Given the description of an element on the screen output the (x, y) to click on. 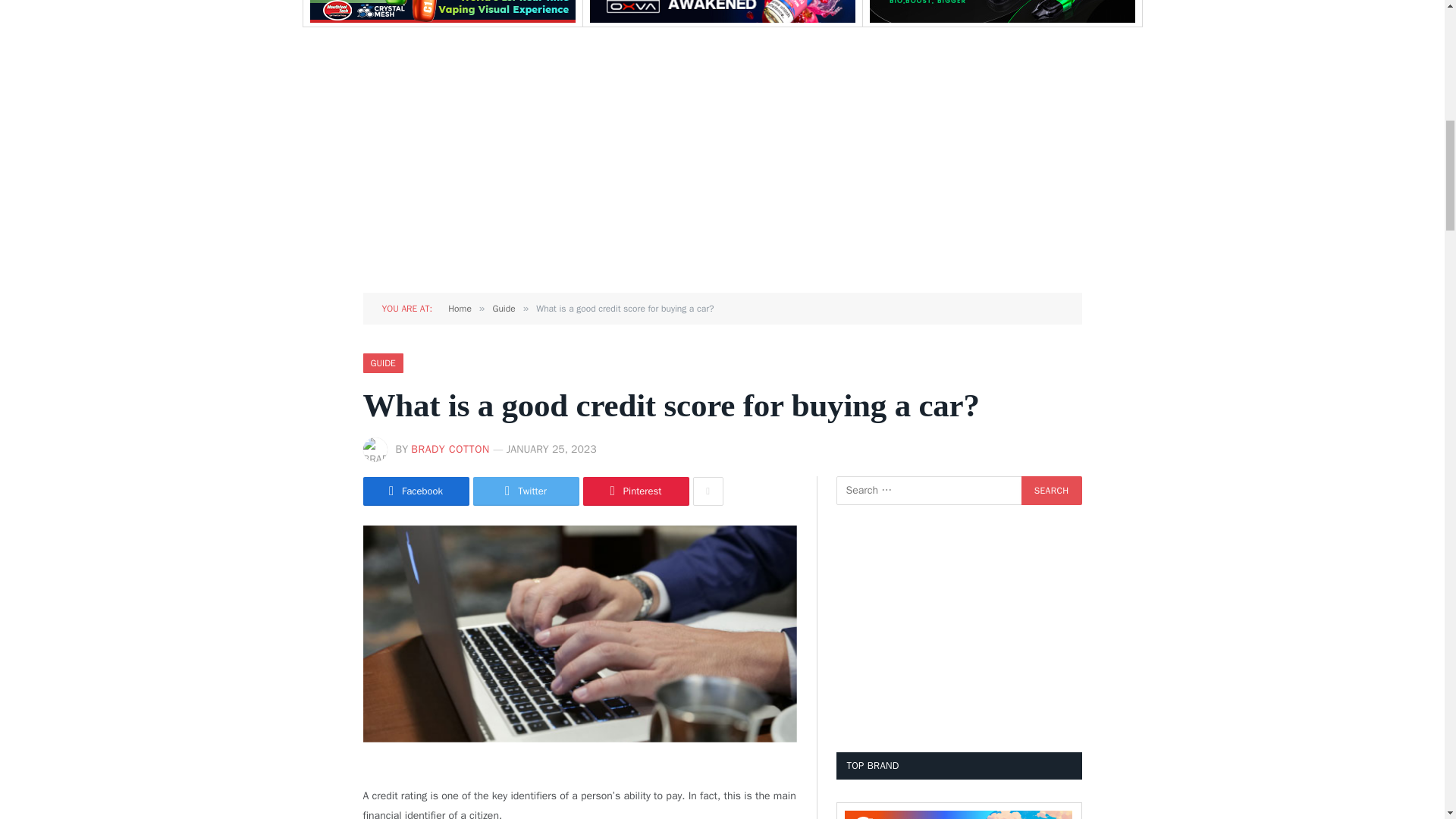
Search (1051, 490)
Show More Social Sharing (708, 491)
Posts by Brady Cotton (449, 449)
Search (1051, 490)
Share on Pinterest (635, 491)
What is a good credit score for buying a car? (579, 633)
Share on Twitter (526, 491)
Share on Facebook (415, 491)
